Given the description of an element on the screen output the (x, y) to click on. 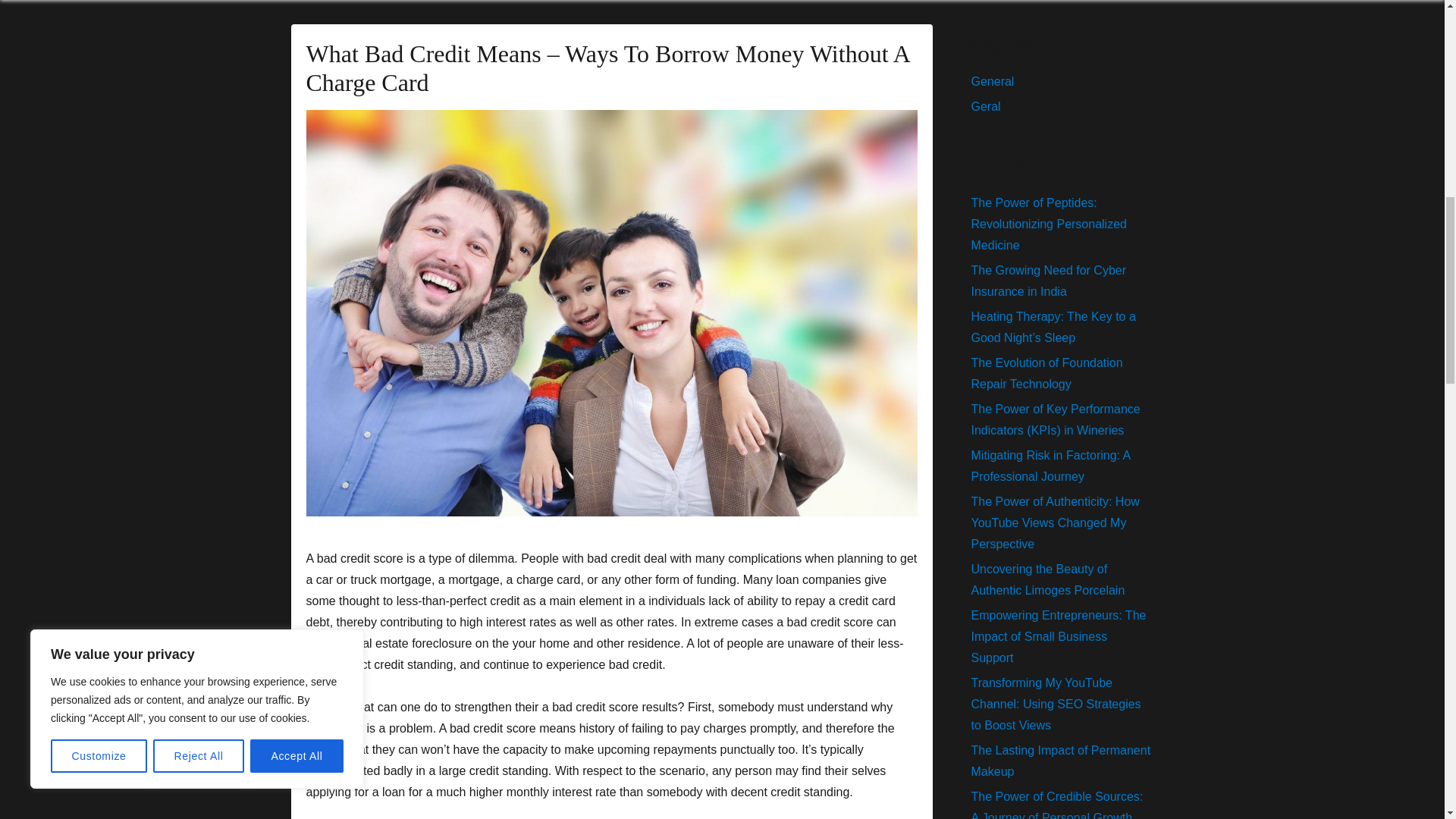
Geral (985, 106)
General (992, 81)
The Evolution of Foundation Repair Technology (1046, 373)
The Power of Peptides: Revolutionizing Personalized Medicine (1048, 223)
The Growing Need for Cyber Insurance in India (1048, 280)
